Given the description of an element on the screen output the (x, y) to click on. 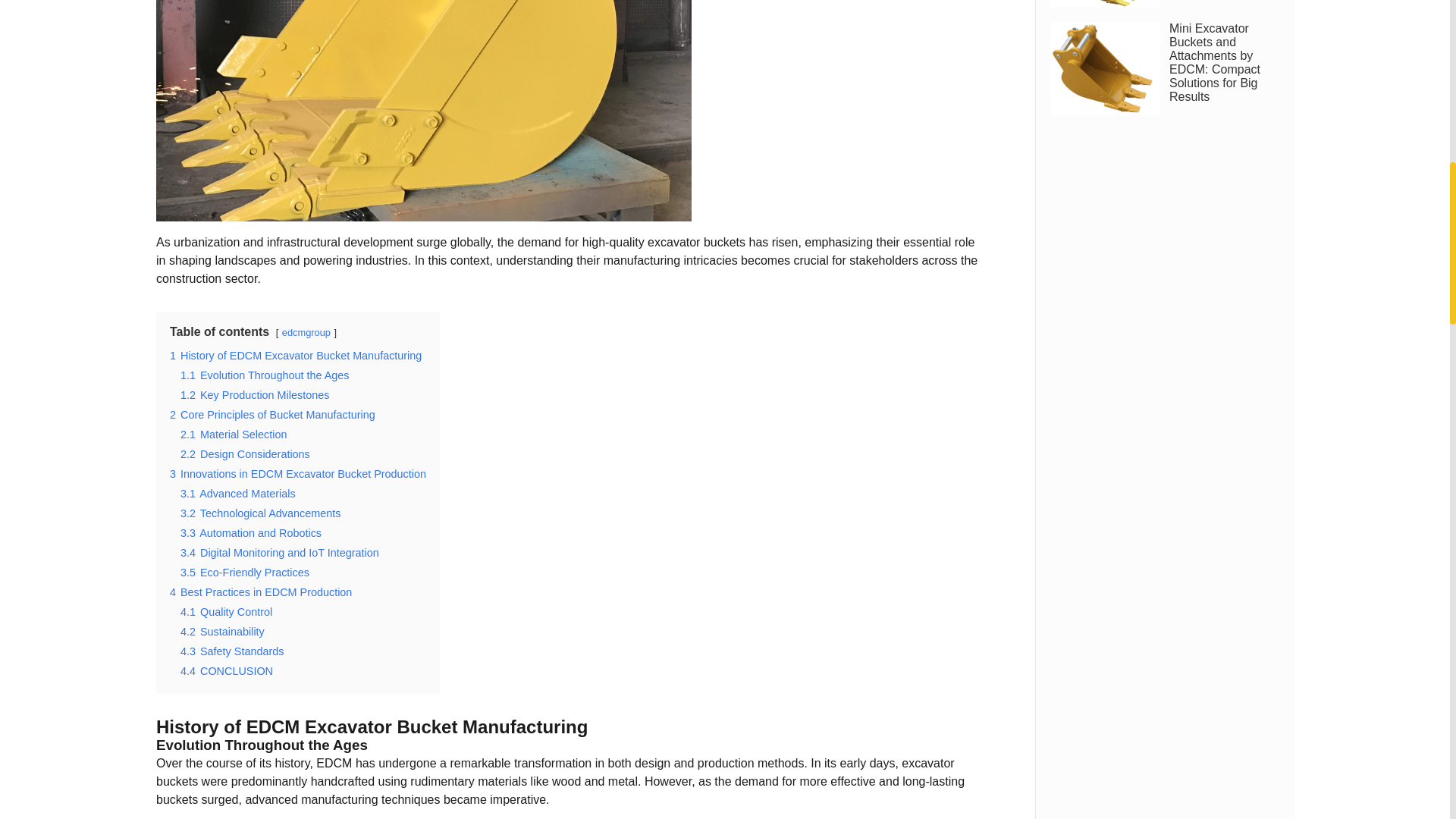
edcmgroup (306, 332)
1.2 Key Production Milestones (254, 395)
1 History of EDCM Excavator Bucket Manufacturing (296, 355)
1.1 Evolution Throughout the Ages (264, 375)
2 Core Principles of Bucket Manufacturing (272, 414)
